Given the description of an element on the screen output the (x, y) to click on. 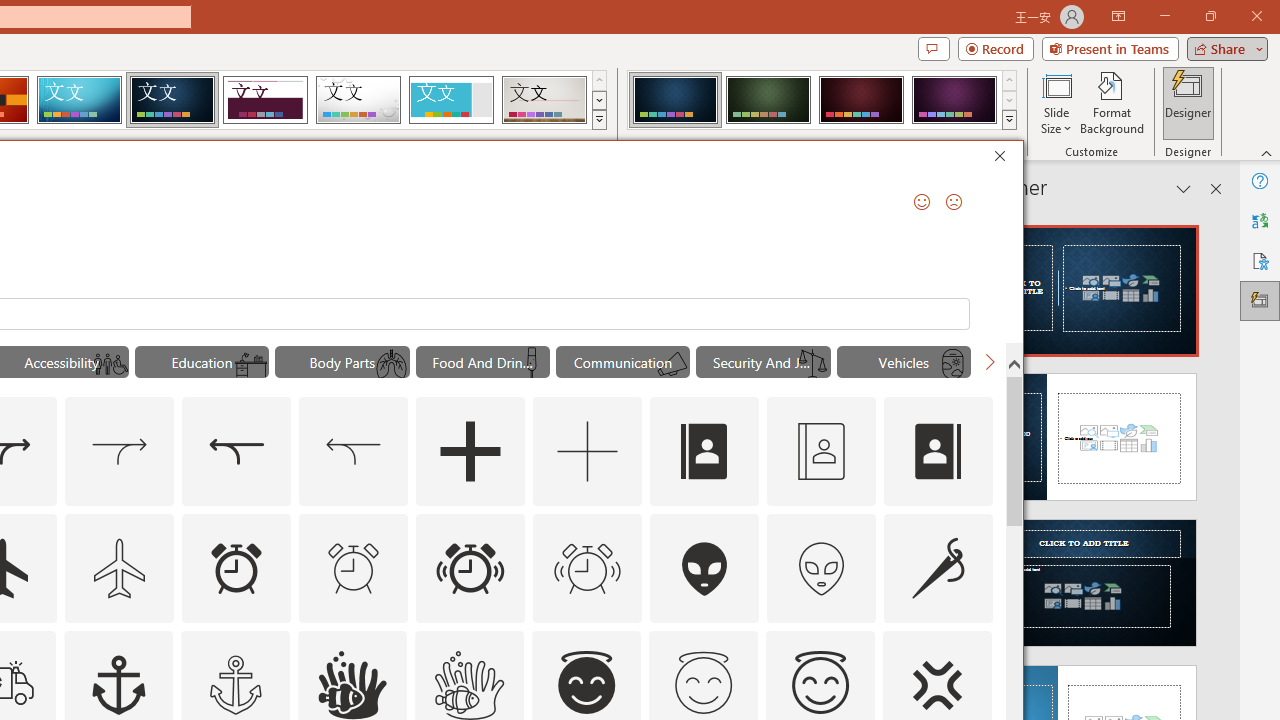
Next Search Suggestion (990, 362)
AutomationID: Icons_Acquisition_LTR_M (120, 452)
outline (820, 685)
Damask Variant 4 (953, 100)
Slide Size (1056, 102)
Dividend (265, 100)
Damask Variant 2 (768, 100)
"Education" Icons. (201, 362)
Themes (598, 120)
